Given the description of an element on the screen output the (x, y) to click on. 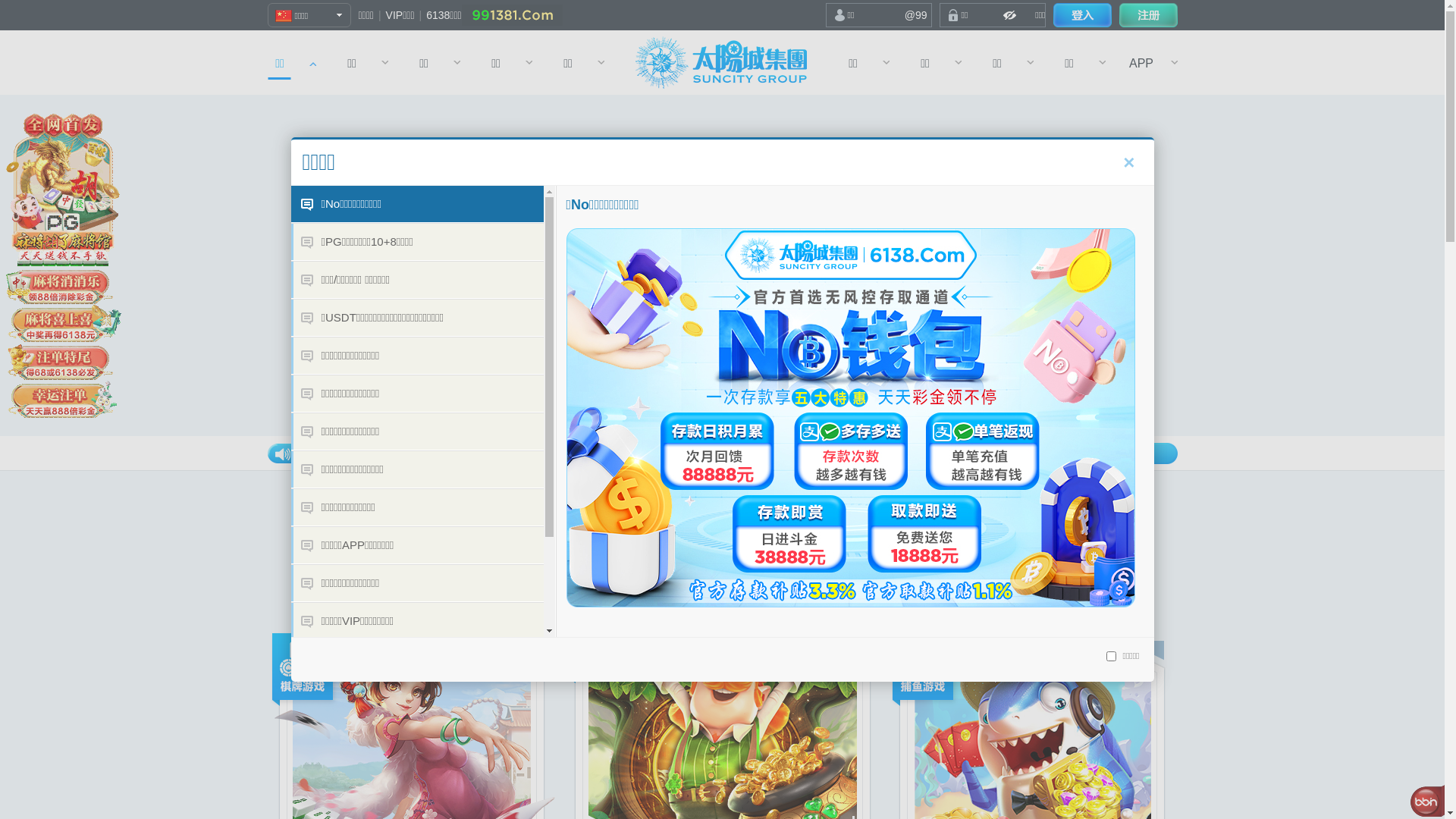
  Element type: hover (1081, 15)
